Given the description of an element on the screen output the (x, y) to click on. 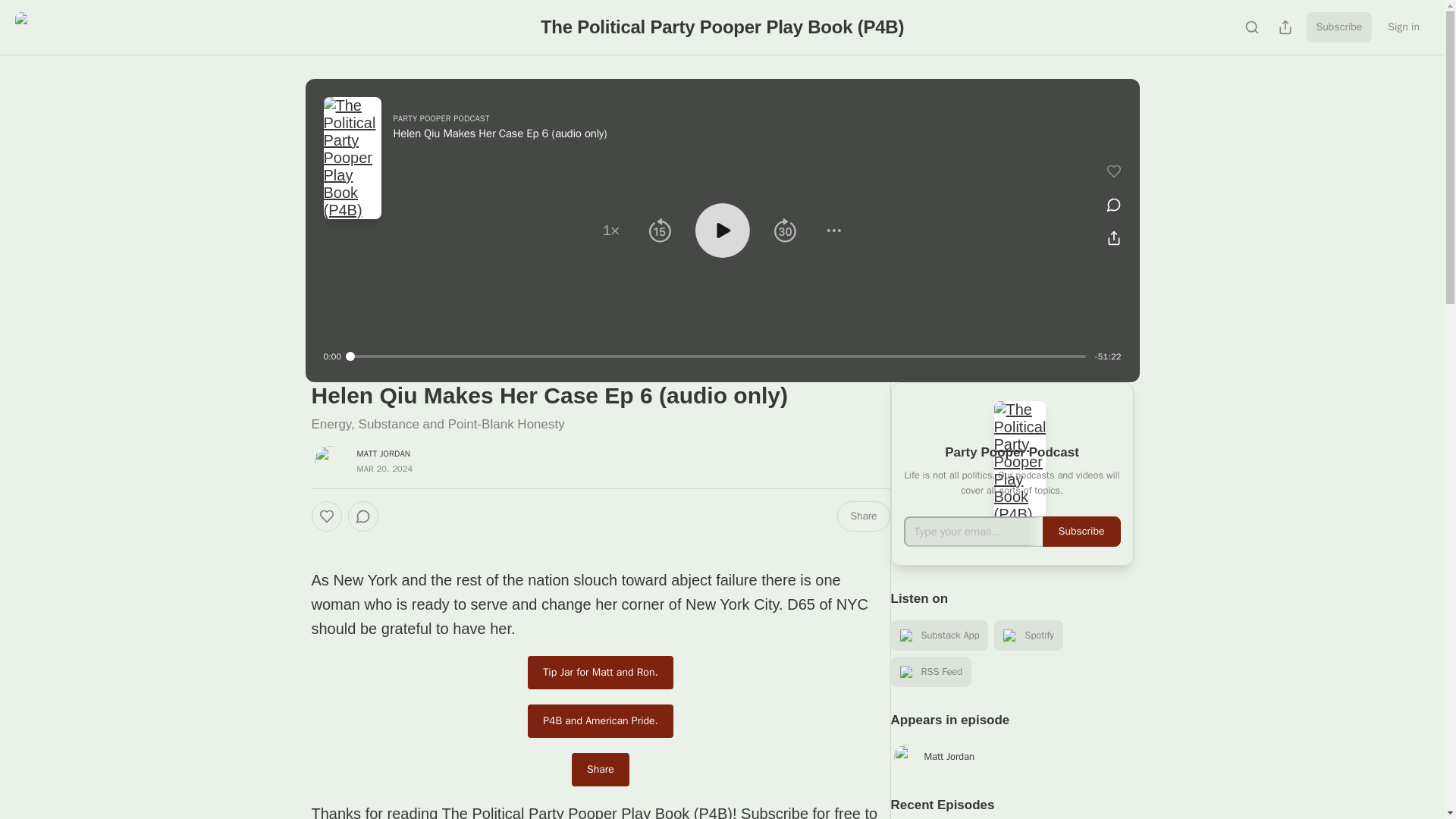
Share (600, 769)
MATT JORDAN (383, 452)
Subscribe (1339, 27)
Sign in (1403, 27)
P4B and American Pride. (599, 720)
Tip Jar for Matt and Ron. (599, 672)
Share (863, 516)
